Given the description of an element on the screen output the (x, y) to click on. 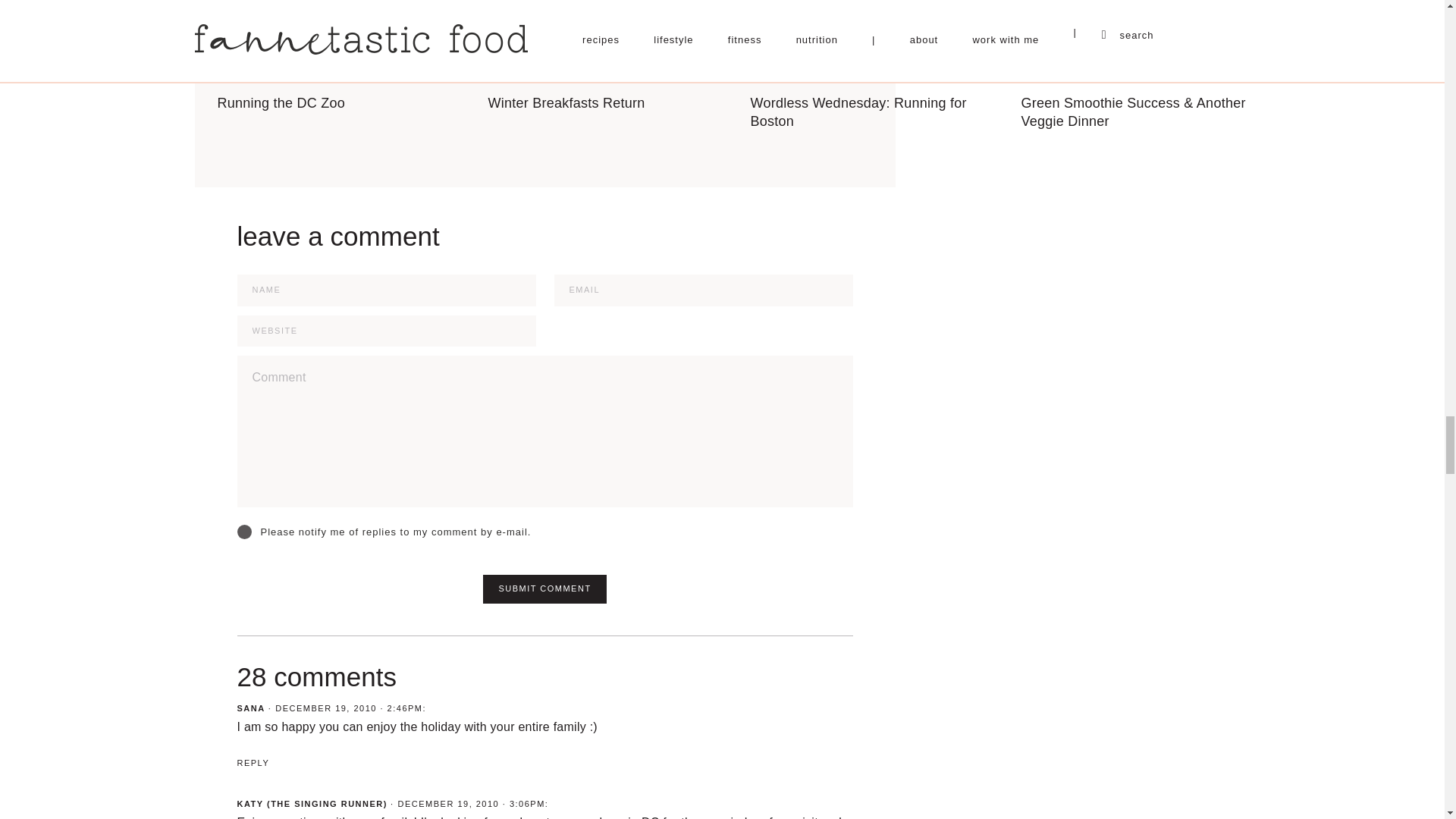
replies (242, 531)
Submit comment (544, 588)
Running the DC Zoo (338, 56)
Winter Breakfasts Return (604, 56)
Wordless Wednesday: Running for Boston (871, 65)
